Given the description of an element on the screen output the (x, y) to click on. 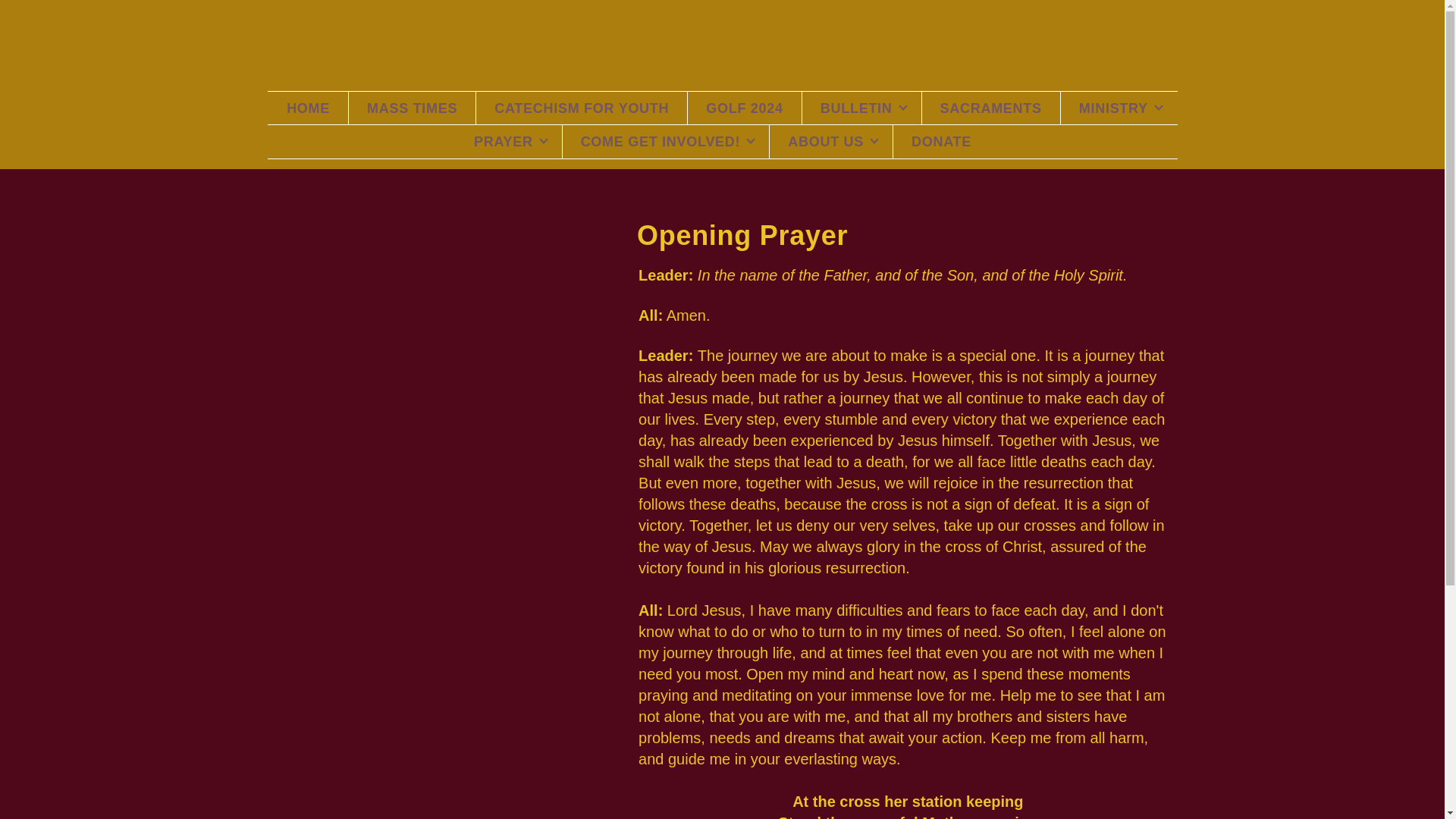
MASS TIMES (412, 108)
GOLF 2024 (744, 108)
HOME (307, 108)
CATECHISM FOR YOUTH (581, 108)
